Given the description of an element on the screen output the (x, y) to click on. 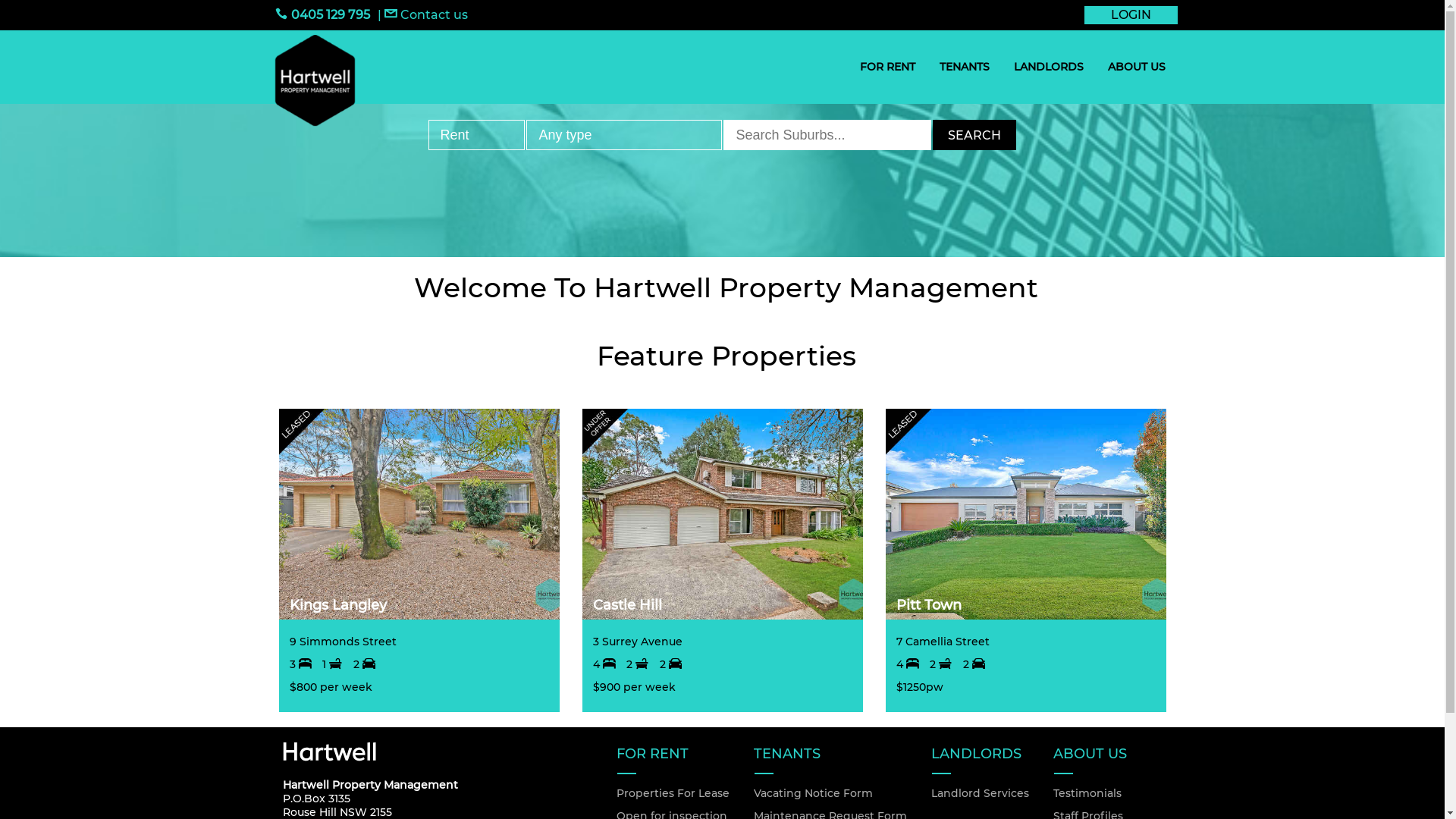
0405 129 795 Element type: text (321, 14)
LANDLORDS Element type: text (1048, 66)
ABOUT US Element type: text (1100, 758)
Vacating Notice Form Element type: text (830, 792)
Contact us Element type: text (425, 14)
Testimonials Element type: text (1100, 792)
FOR RENT Element type: text (887, 66)
SEARCH Element type: text (974, 134)
LANDLORDS Element type: text (980, 758)
Properties For Lease Element type: text (671, 792)
TENANTS Element type: text (963, 66)
Landlord Services Element type: text (980, 792)
FOR RENT Element type: text (671, 758)
LOGIN Element type: text (1130, 15)
ABOUT US Element type: text (1135, 66)
TENANTS Element type: text (830, 758)
